Given the description of an element on the screen output the (x, y) to click on. 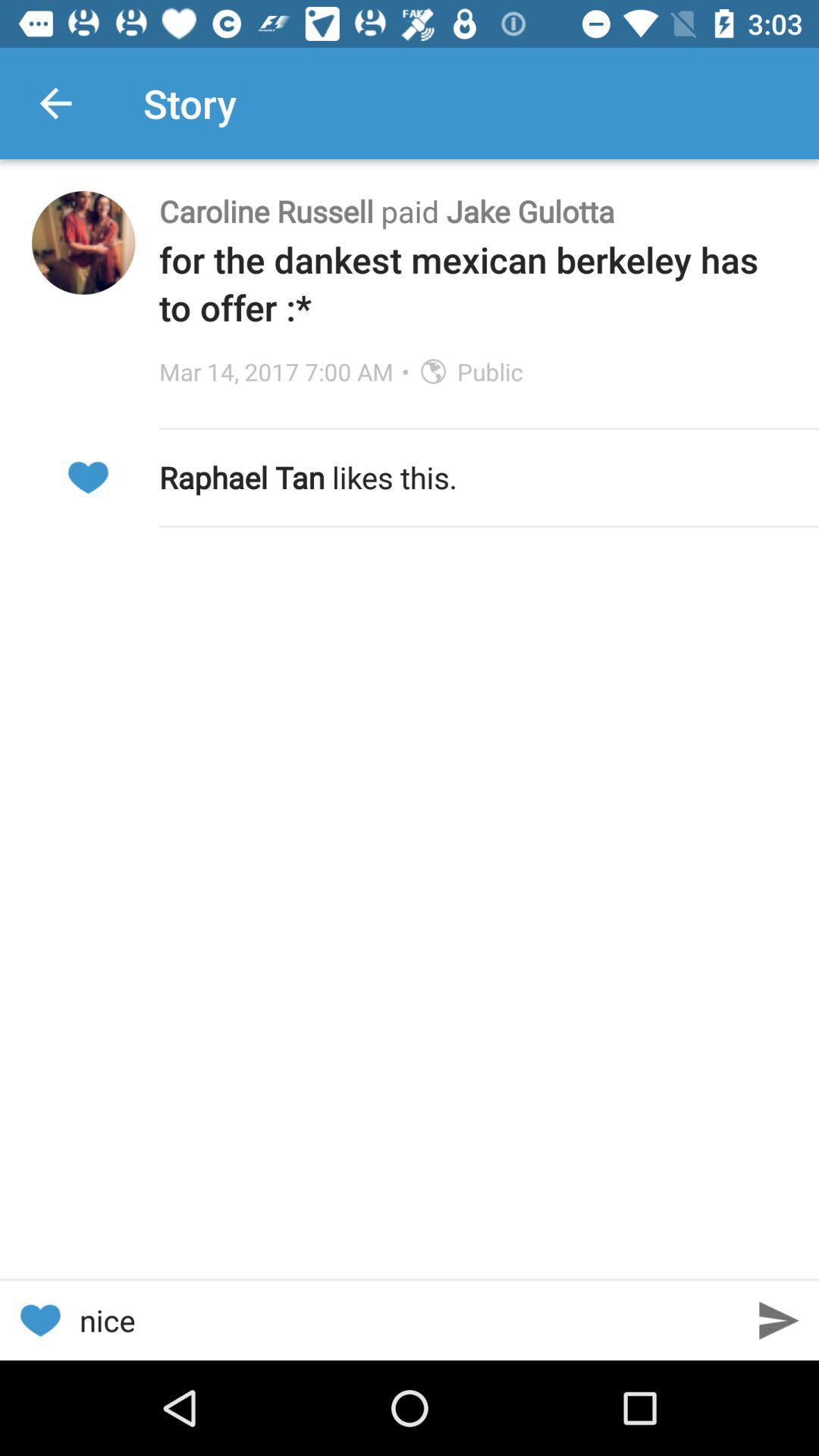
press the icon next to raphael tan likes (87, 477)
